Given the description of an element on the screen output the (x, y) to click on. 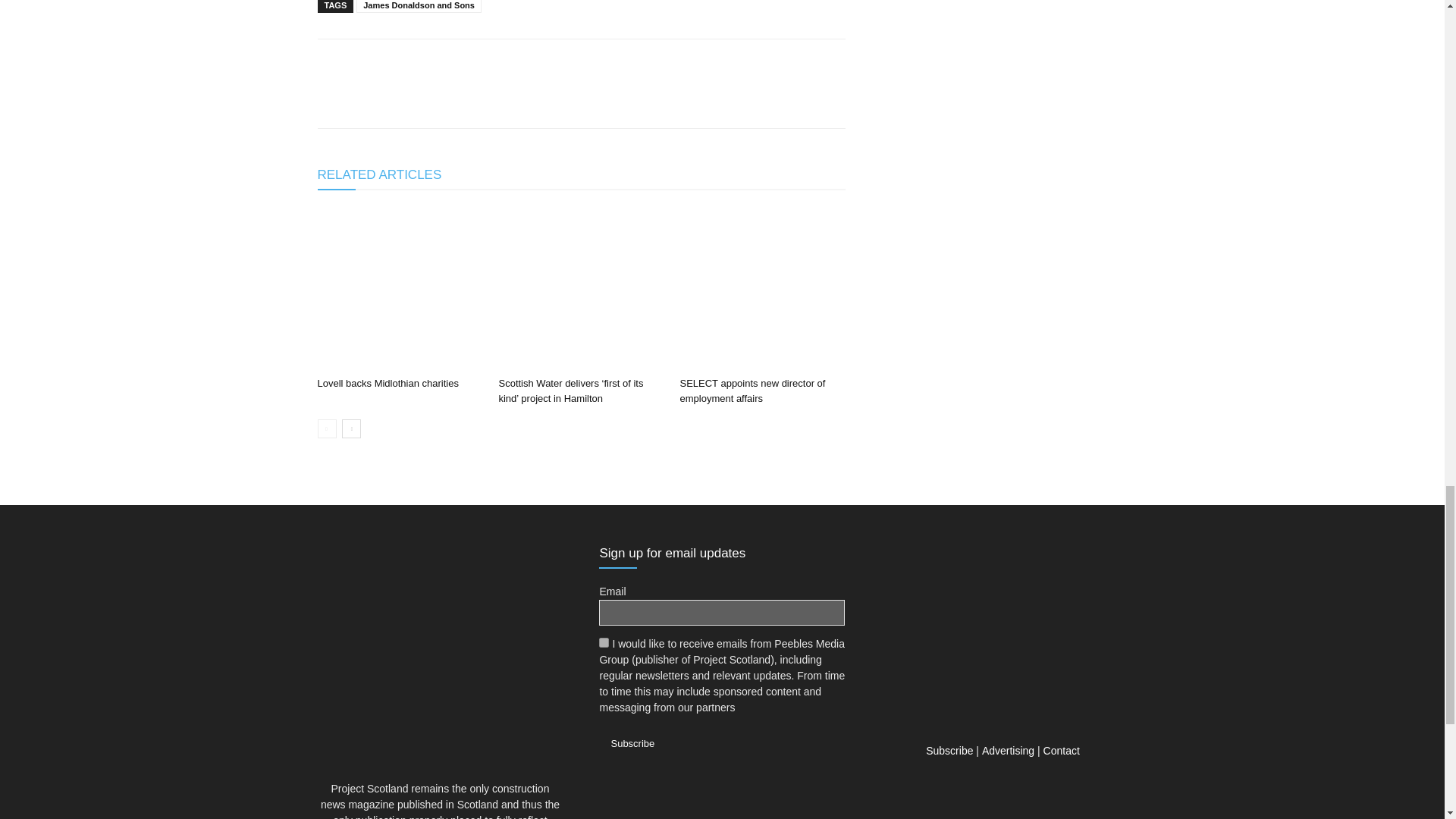
on (603, 642)
Subscribe (631, 743)
